Given the description of an element on the screen output the (x, y) to click on. 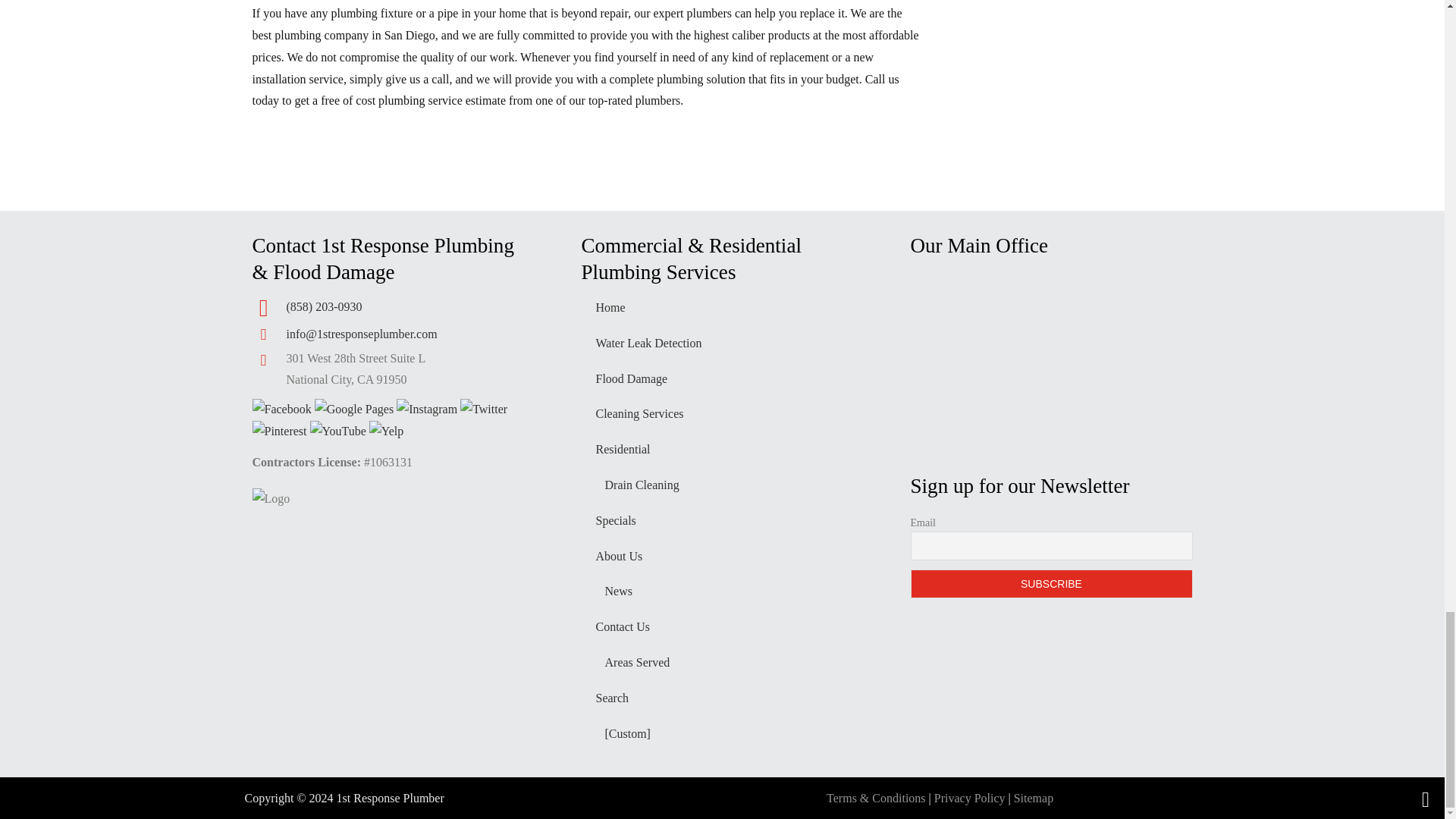
Subscribe (1051, 583)
